Given the description of an element on the screen output the (x, y) to click on. 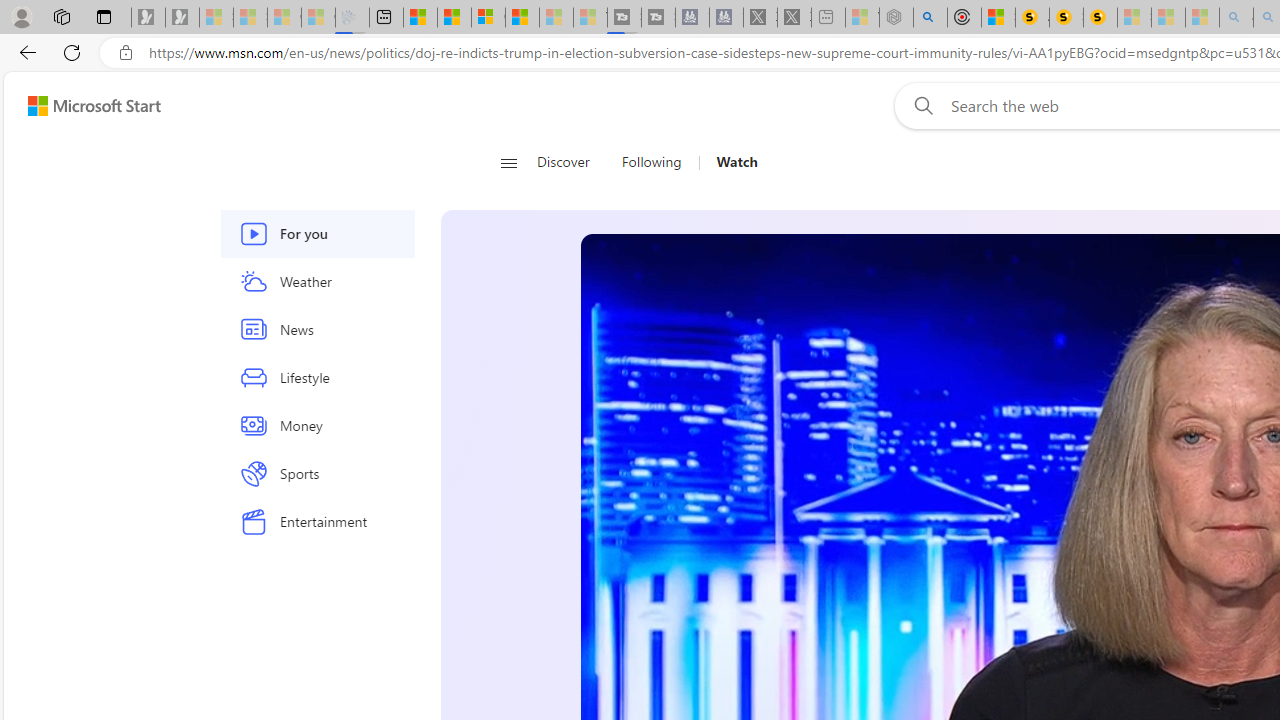
Watch (737, 162)
Newsletter Sign Up - Sleeping (182, 17)
Michelle Starr, Senior Journalist at ScienceAlert (1100, 17)
Web search (919, 105)
